Given the description of an element on the screen output the (x, y) to click on. 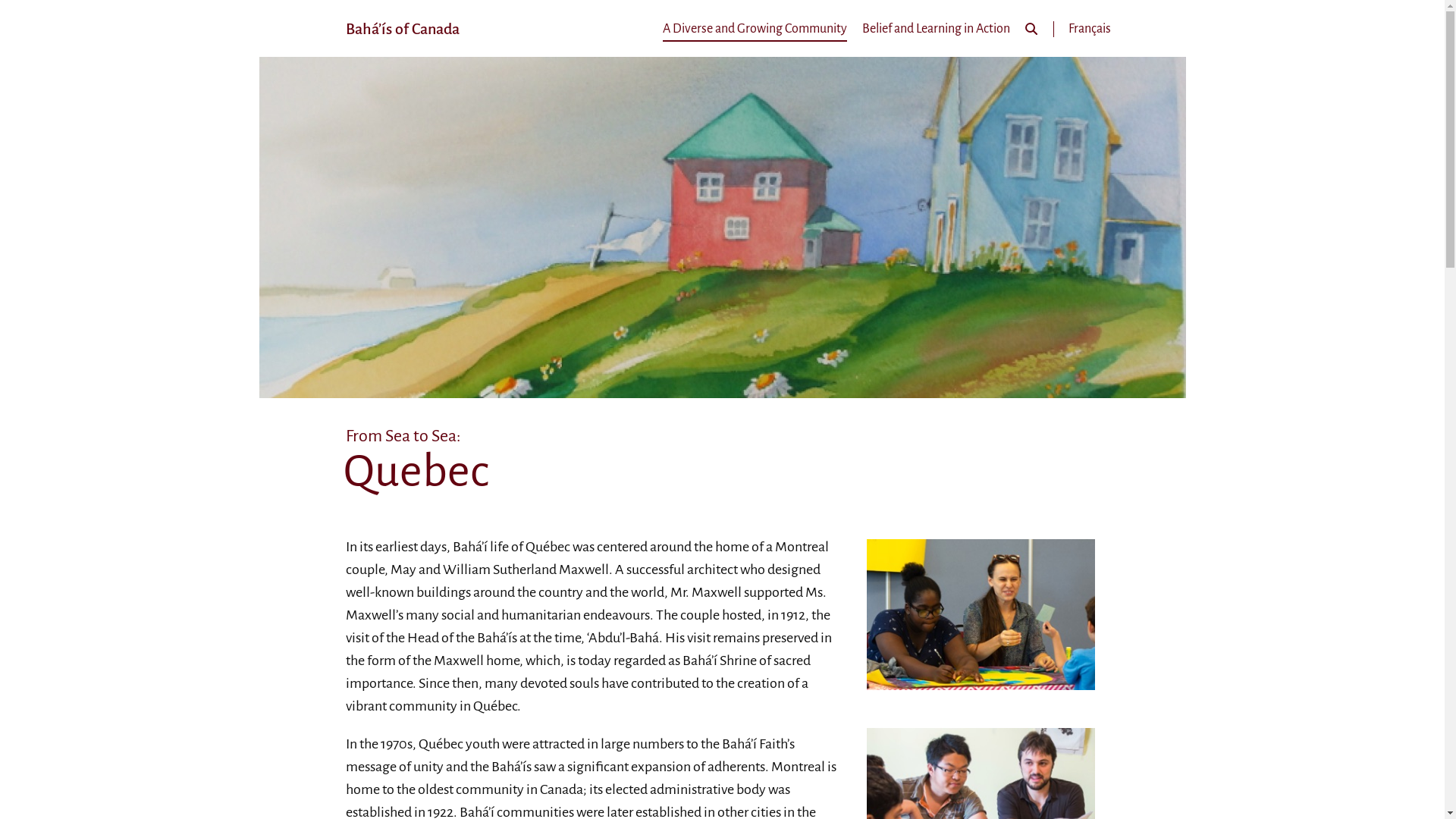
A Diverse and Growing Community Element type: text (754, 28)
Belief and Learning in Action Element type: text (934, 28)
Search icon Created with Sketch. Element type: text (1031, 28)
